Given the description of an element on the screen output the (x, y) to click on. 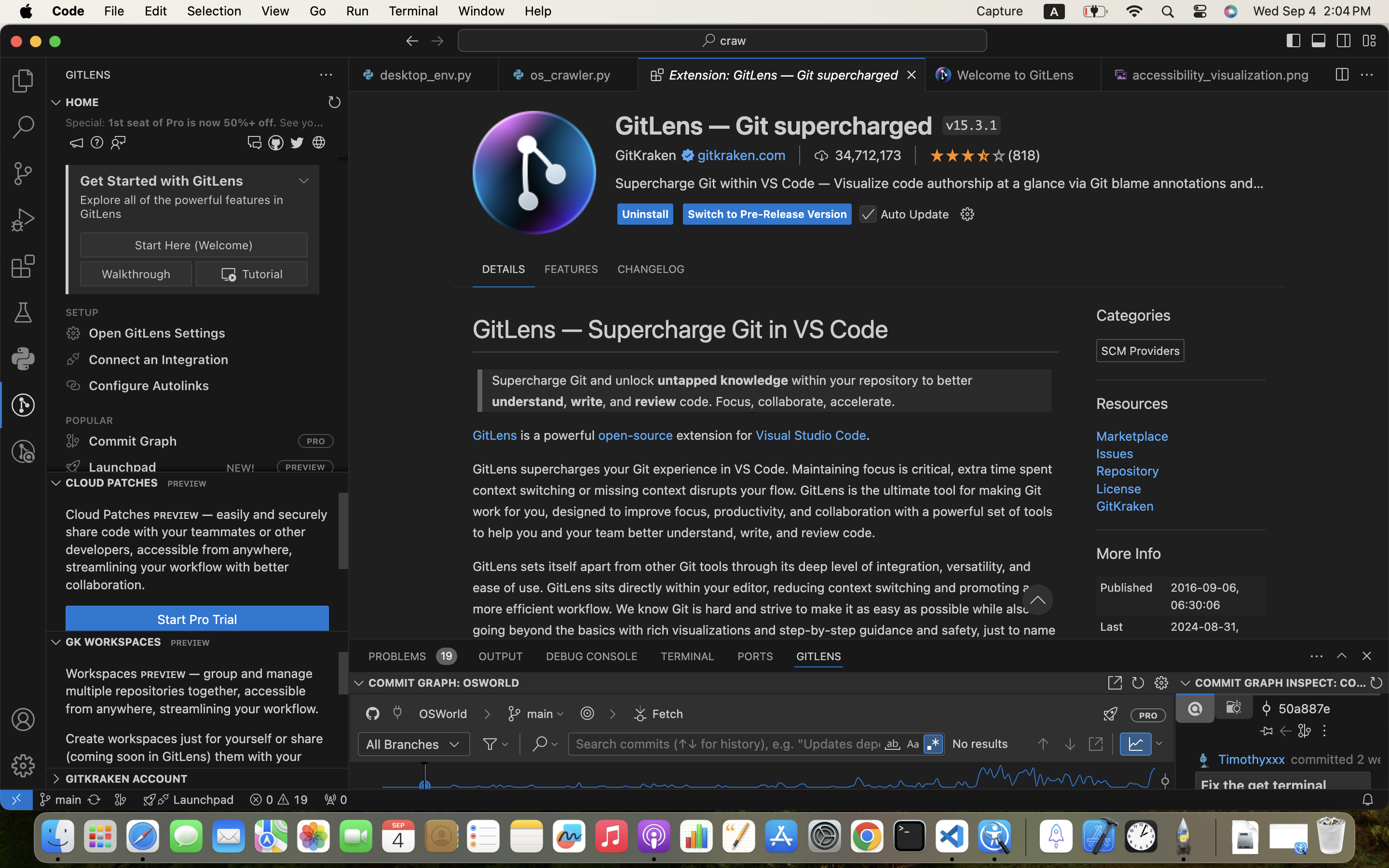
2016-09-06, 06:30:06 Element type: AXStaticText (1205, 596)
POPULAR Element type: AXStaticText (1069, 570)
 Element type: AXGroup (1164, 774)
code. Focus, collaborate, accelerate. Element type: AXStaticText (555, 199)
Git Supercharged Element type: AXStaticText (592, 136)
